Given the description of an element on the screen output the (x, y) to click on. 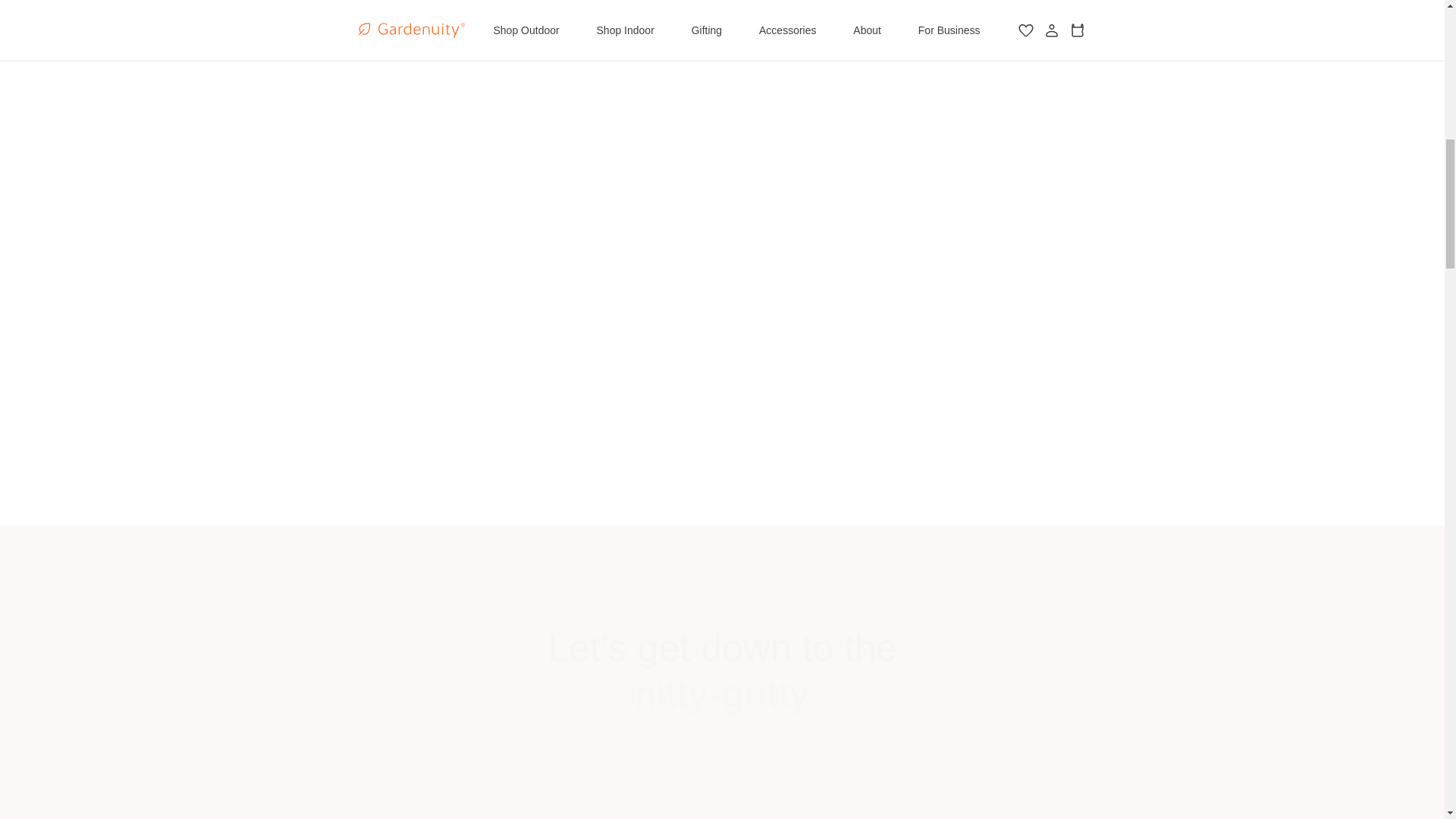
How it works (722, 215)
